Given the description of an element on the screen output the (x, y) to click on. 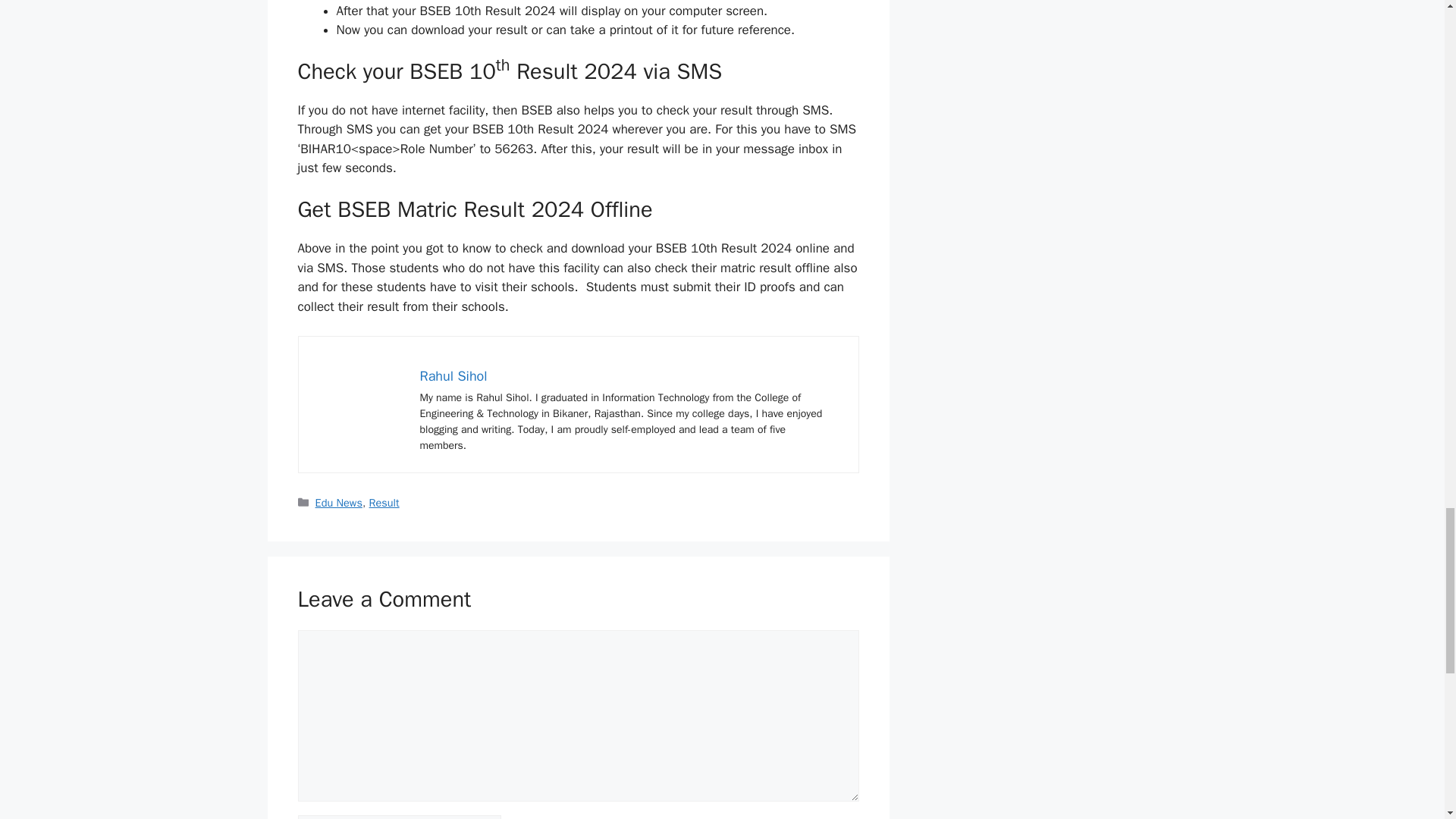
Edu News (338, 502)
Result (383, 502)
Rahul Sihol (453, 375)
